Given the description of an element on the screen output the (x, y) to click on. 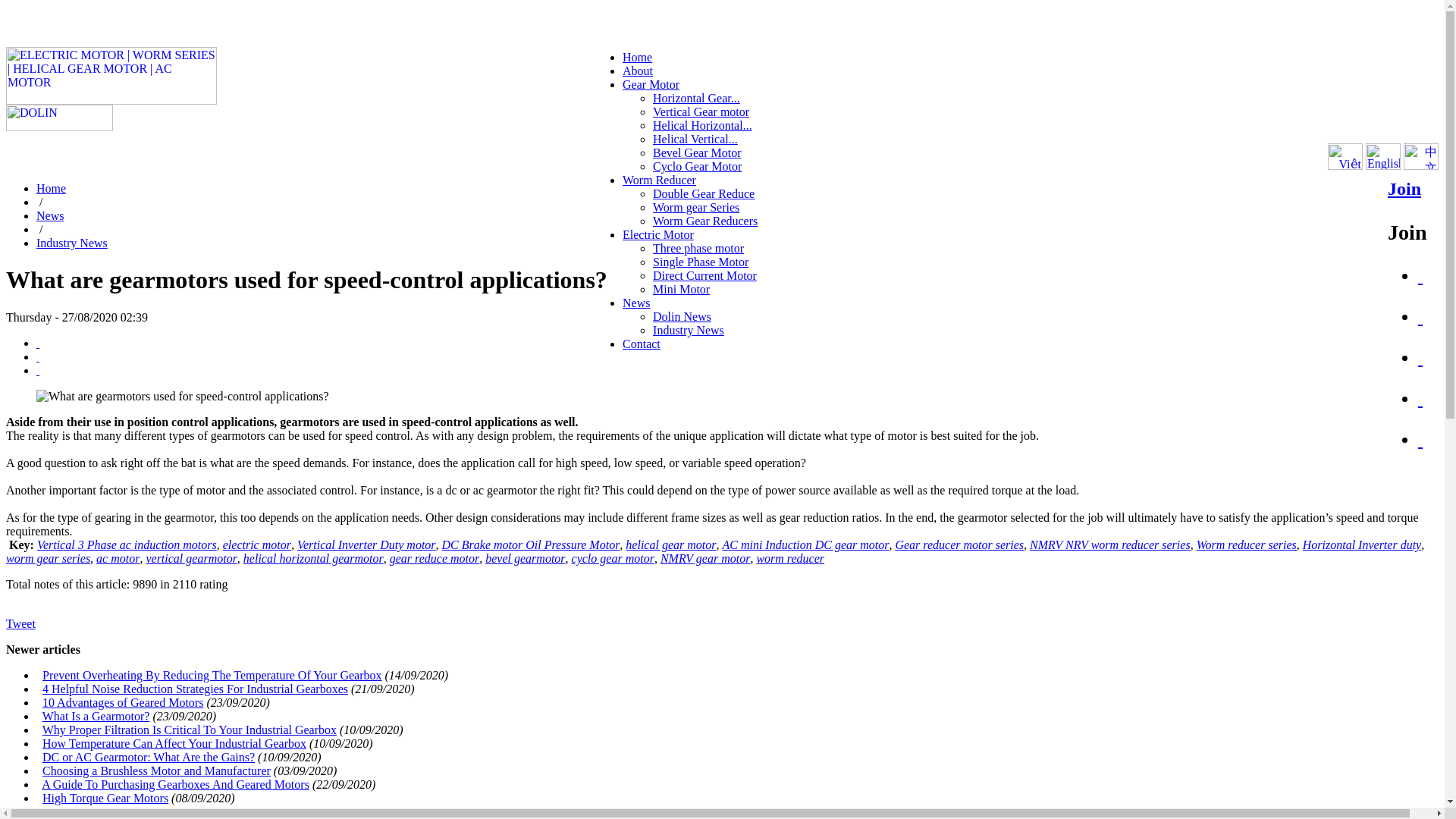
Electric Motor (658, 234)
Three phase motor (698, 247)
Cyclo Gear Motor (696, 165)
Helical Vertical... (695, 138)
Industry News (71, 242)
Helical Horizontal... (702, 124)
Bevel Gear Motor (696, 152)
Home (637, 56)
Double Gear Reduce (703, 193)
Mini Motor (681, 288)
Worm Gear Reducers (704, 220)
Join (1404, 189)
Home (50, 187)
